Given the description of an element on the screen output the (x, y) to click on. 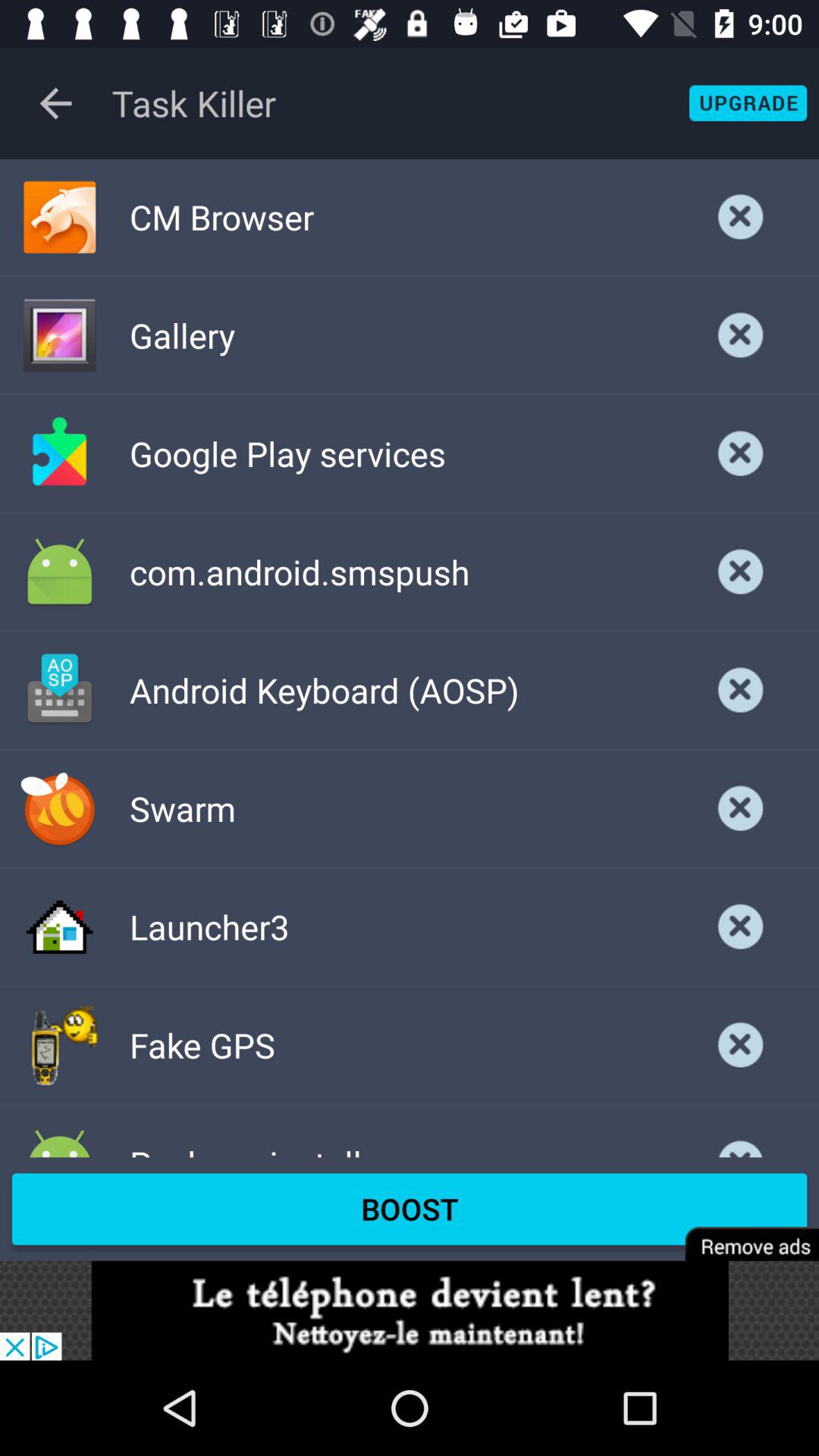
close page (740, 690)
